Given the description of an element on the screen output the (x, y) to click on. 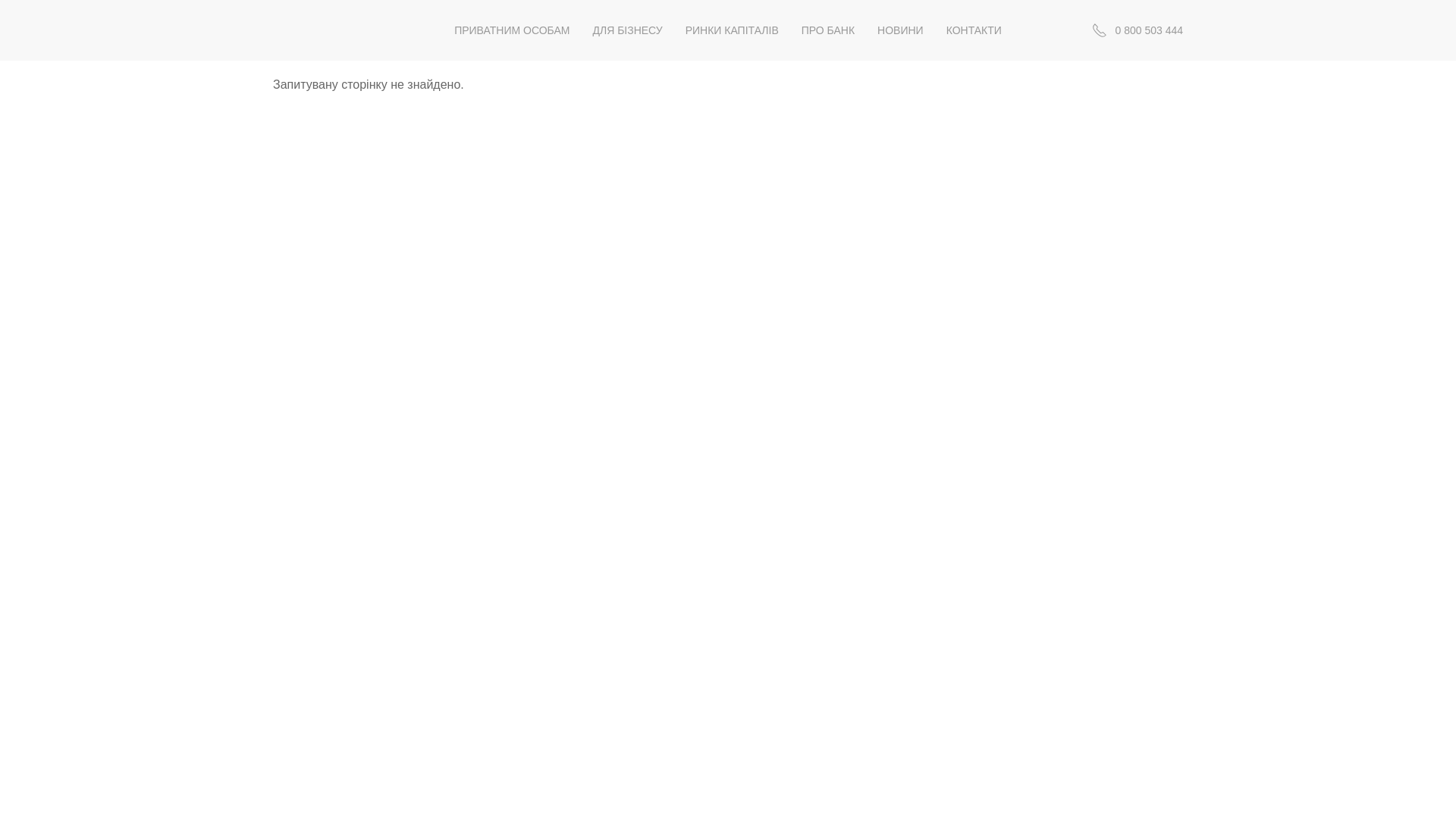
  0 800 503 444 Element type: text (1136, 30)
